Given the description of an element on the screen output the (x, y) to click on. 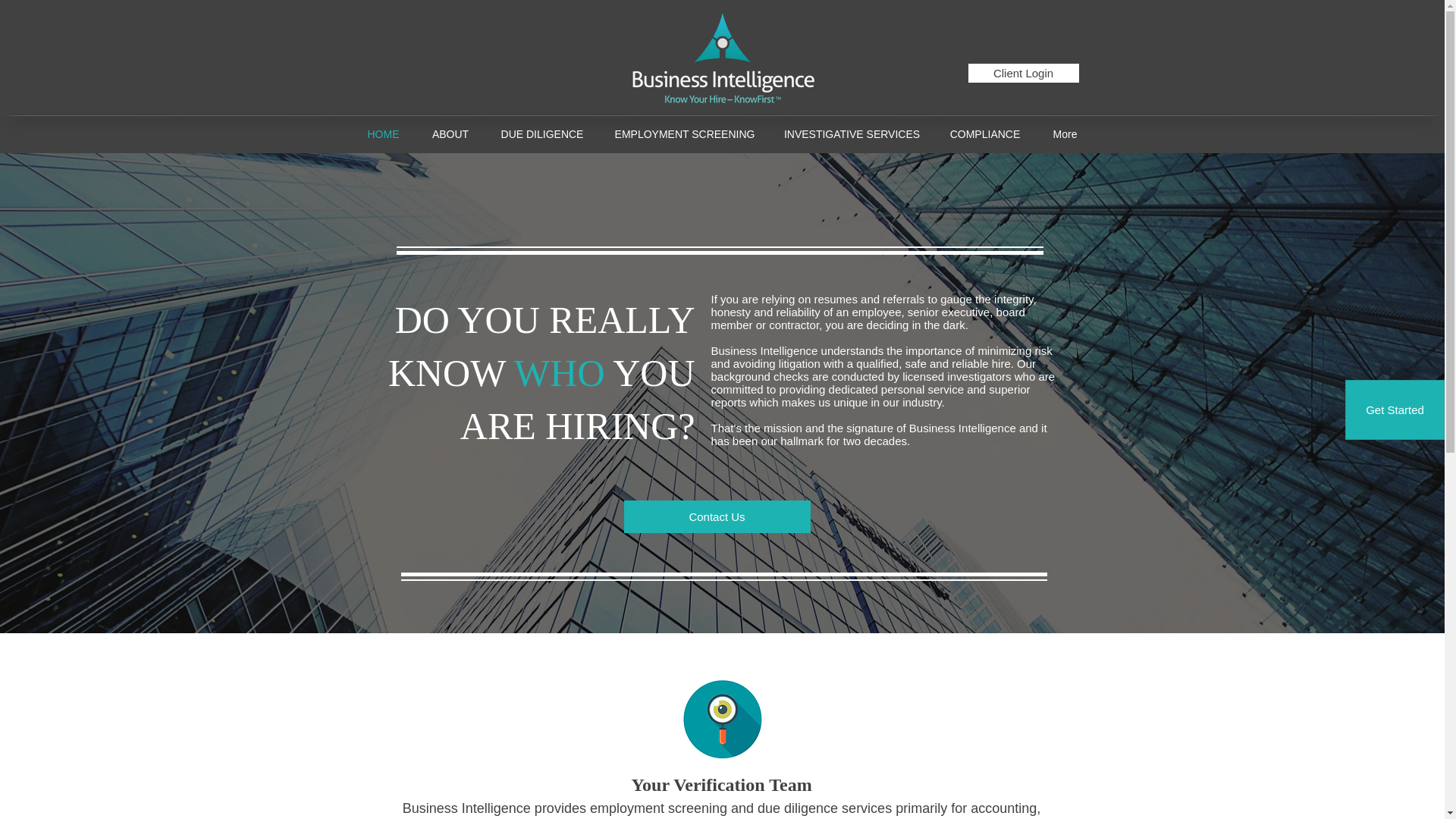
COMPLIANCE (985, 134)
Client Login (1023, 72)
Contact Us (716, 516)
EMPLOYMENT SCREENING (684, 134)
ABOUT (449, 134)
HOME (382, 134)
DUE DILIGENCE (541, 134)
INVESTIGATIVE SERVICES (852, 134)
